Given the description of an element on the screen output the (x, y) to click on. 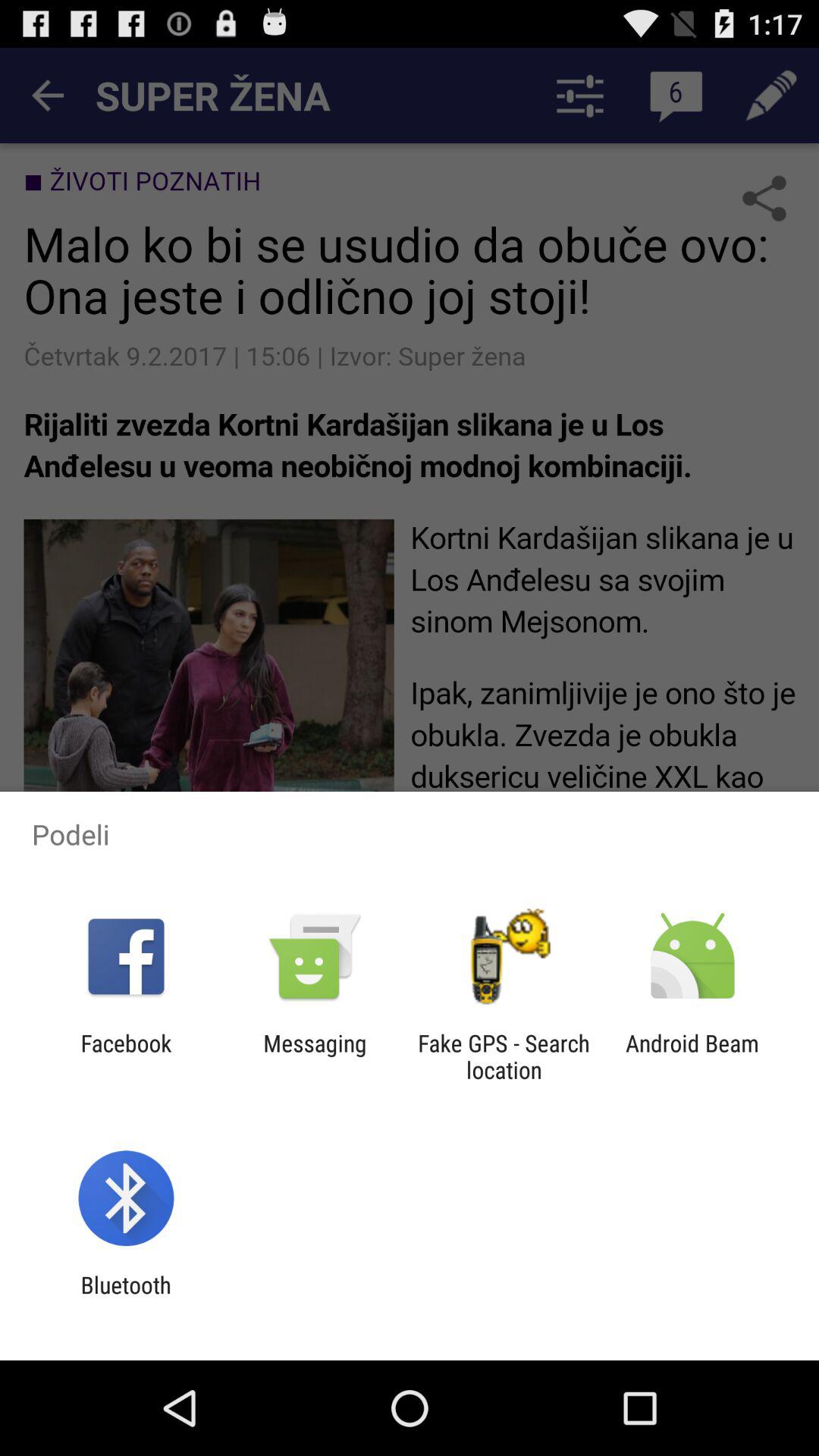
choose the app next to the android beam item (503, 1056)
